Given the description of an element on the screen output the (x, y) to click on. 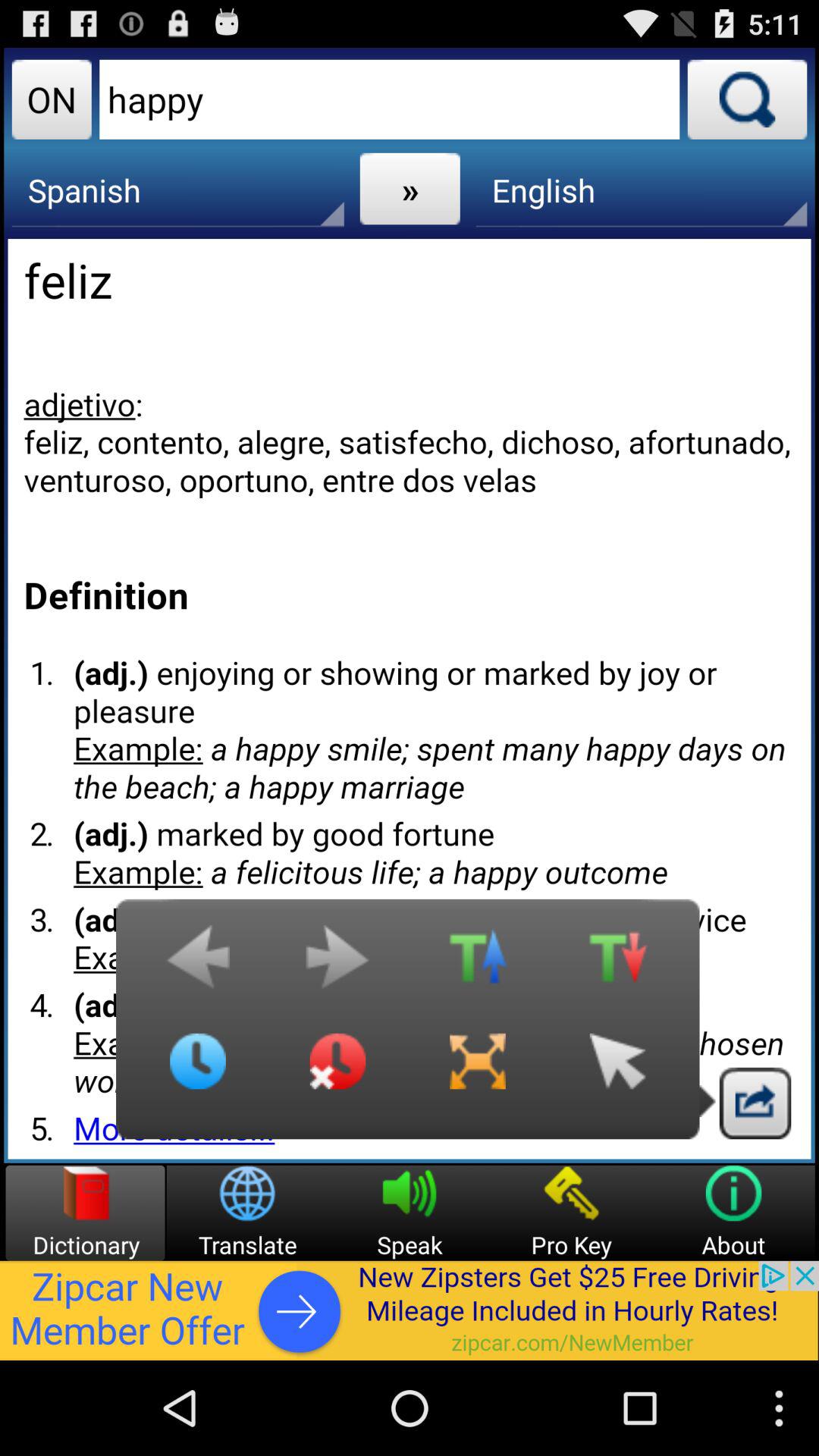
set an alarm (337, 1073)
